Given the description of an element on the screen output the (x, y) to click on. 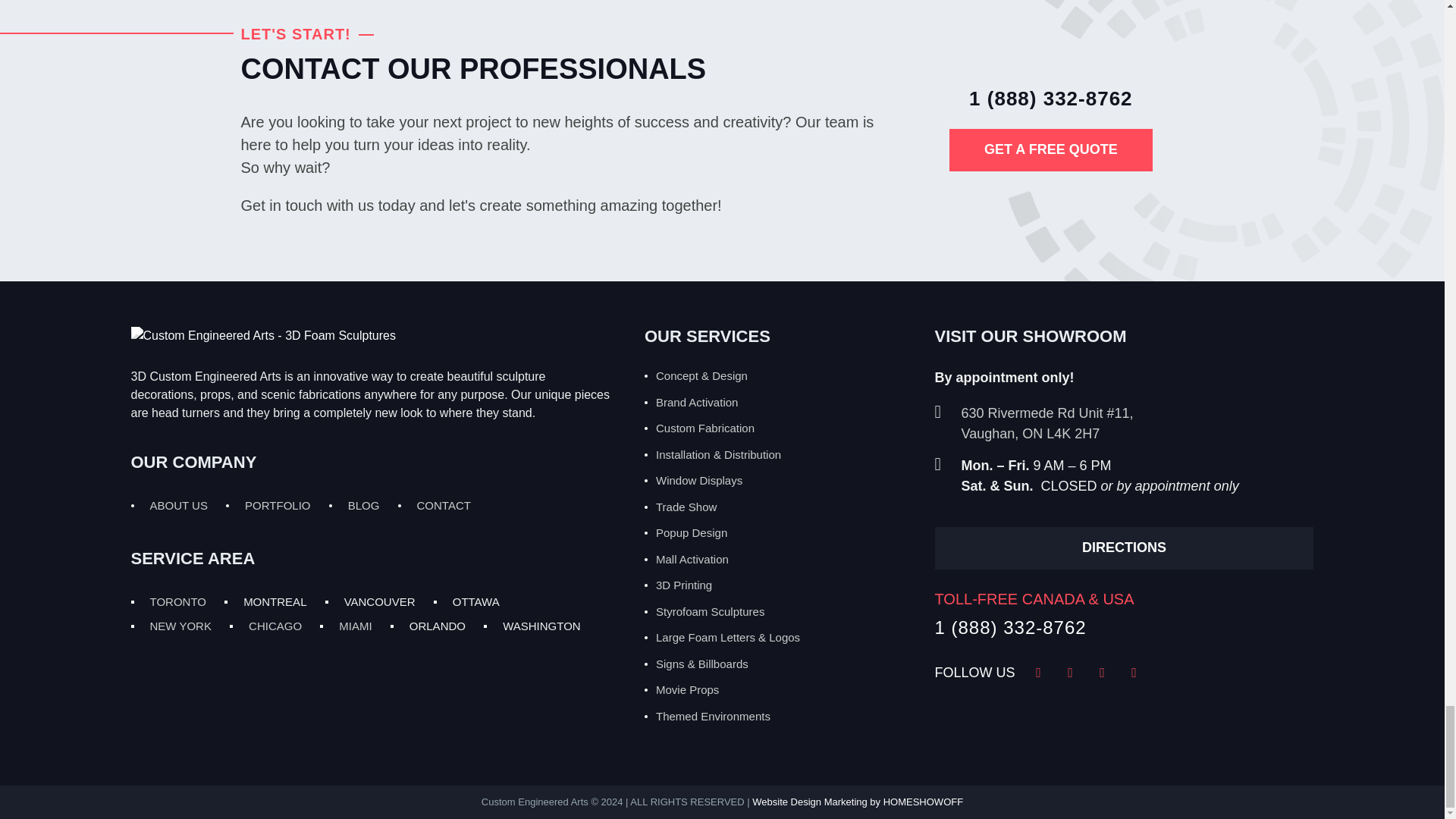
Subscribe to me on YouTube (1102, 672)
Subscribe to me on TikTok (1134, 672)
Facebook (1038, 672)
Follow me on Instagram (1070, 672)
